Given the description of an element on the screen output the (x, y) to click on. 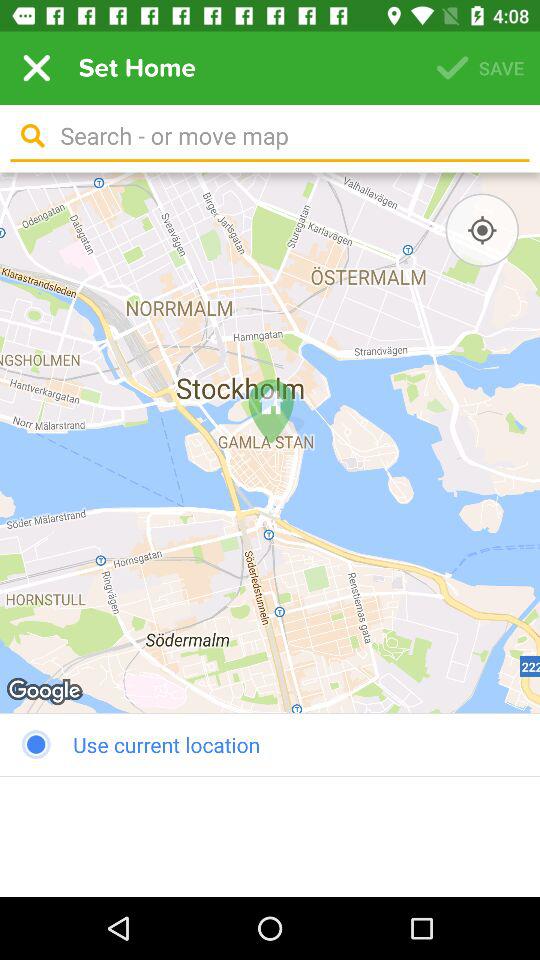
search (288, 135)
